Given the description of an element on the screen output the (x, y) to click on. 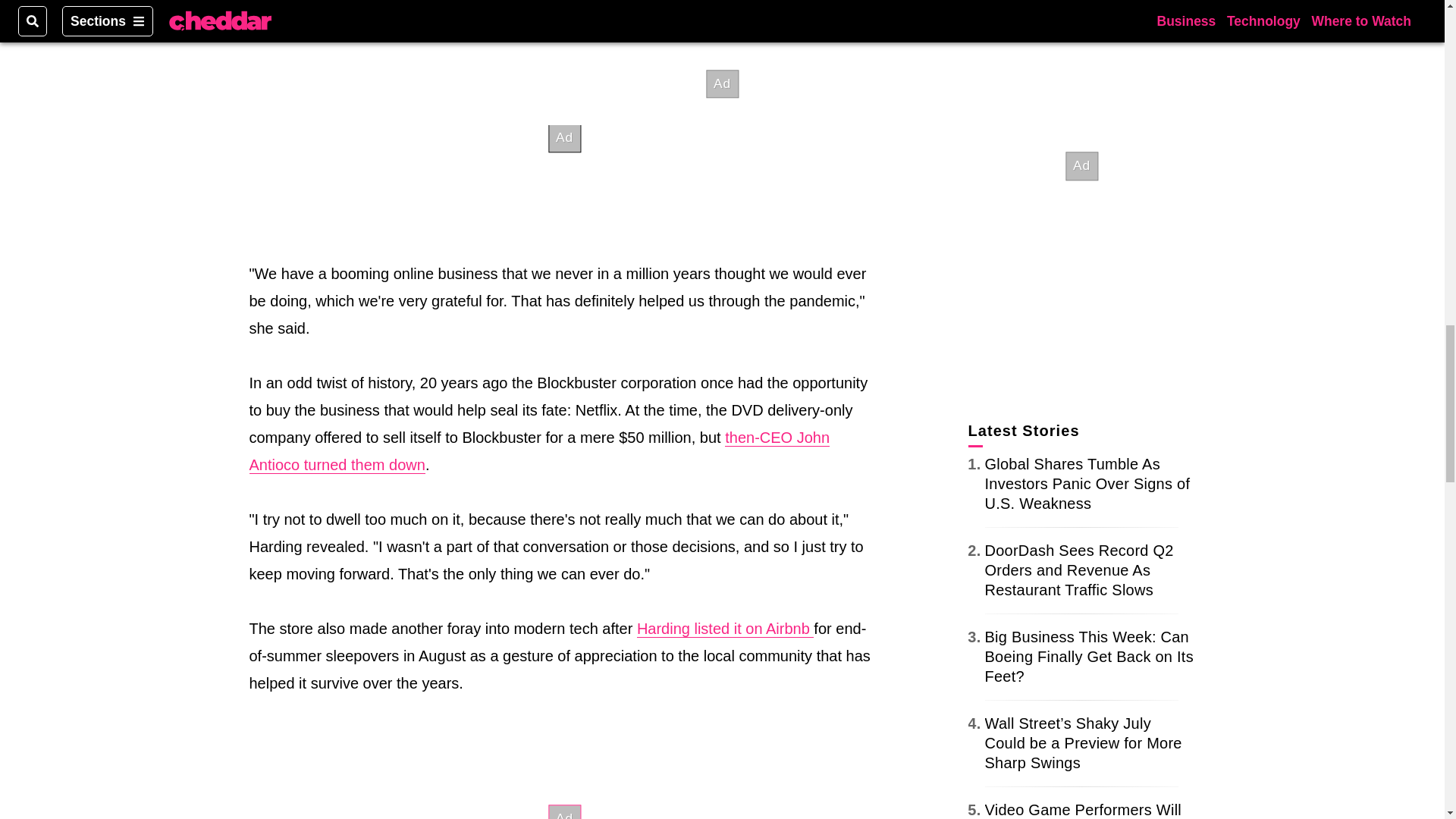
then-CEO John Antioco turned them down (538, 451)
Harding listed it on Airbnb (725, 628)
